Given the description of an element on the screen output the (x, y) to click on. 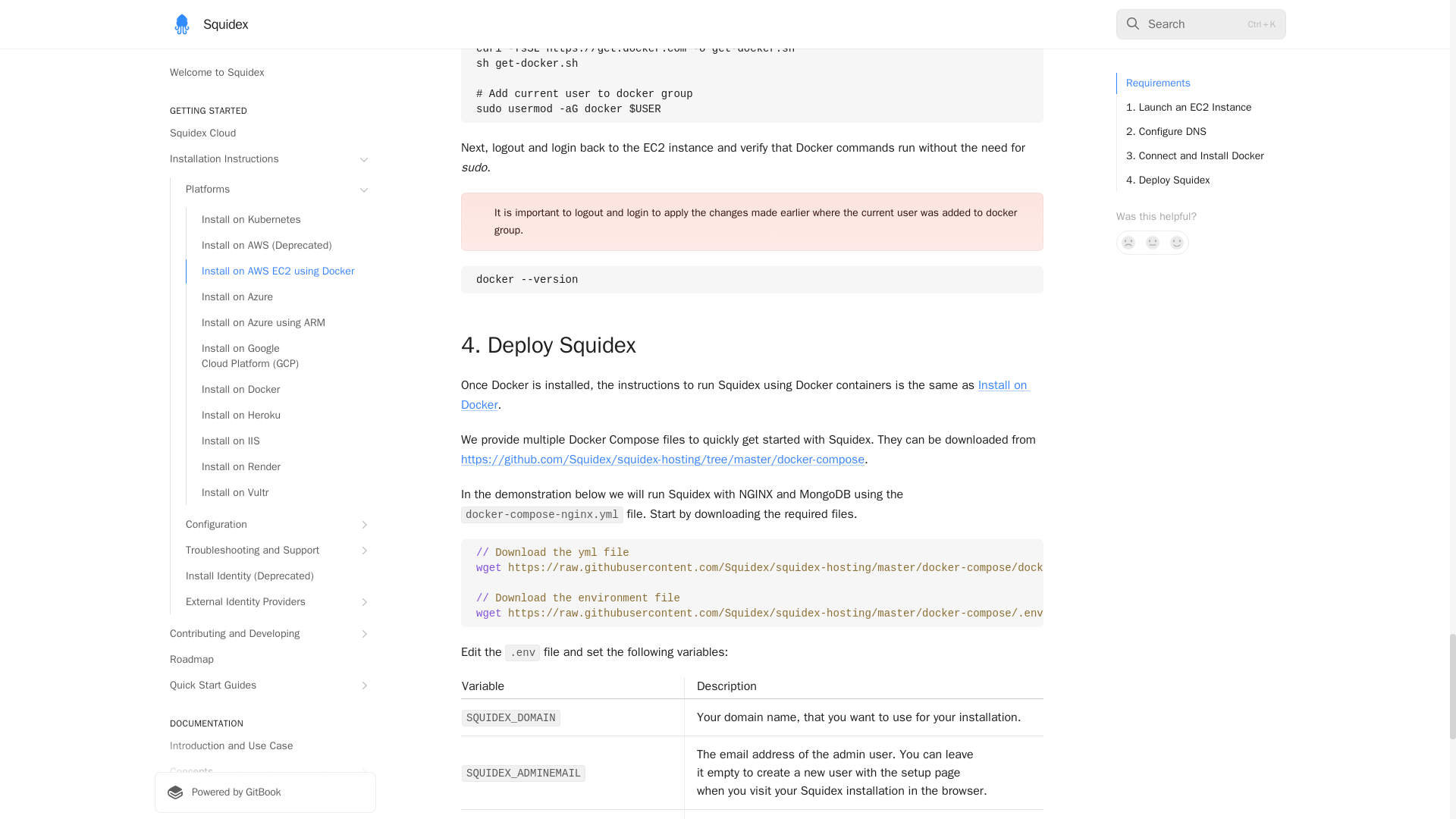
docker --version (752, 279)
